Given the description of an element on the screen output the (x, y) to click on. 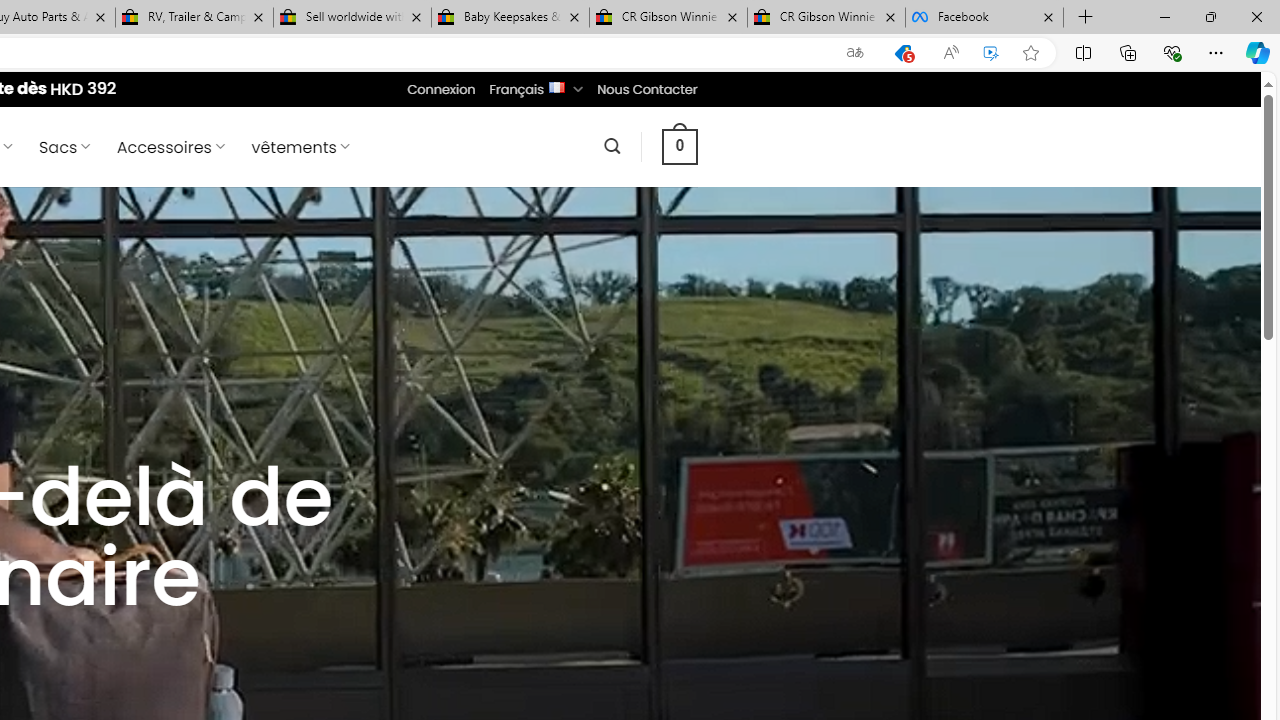
Recherche (612, 146)
  0   (679, 146)
Connexion (441, 89)
